Given the description of an element on the screen output the (x, y) to click on. 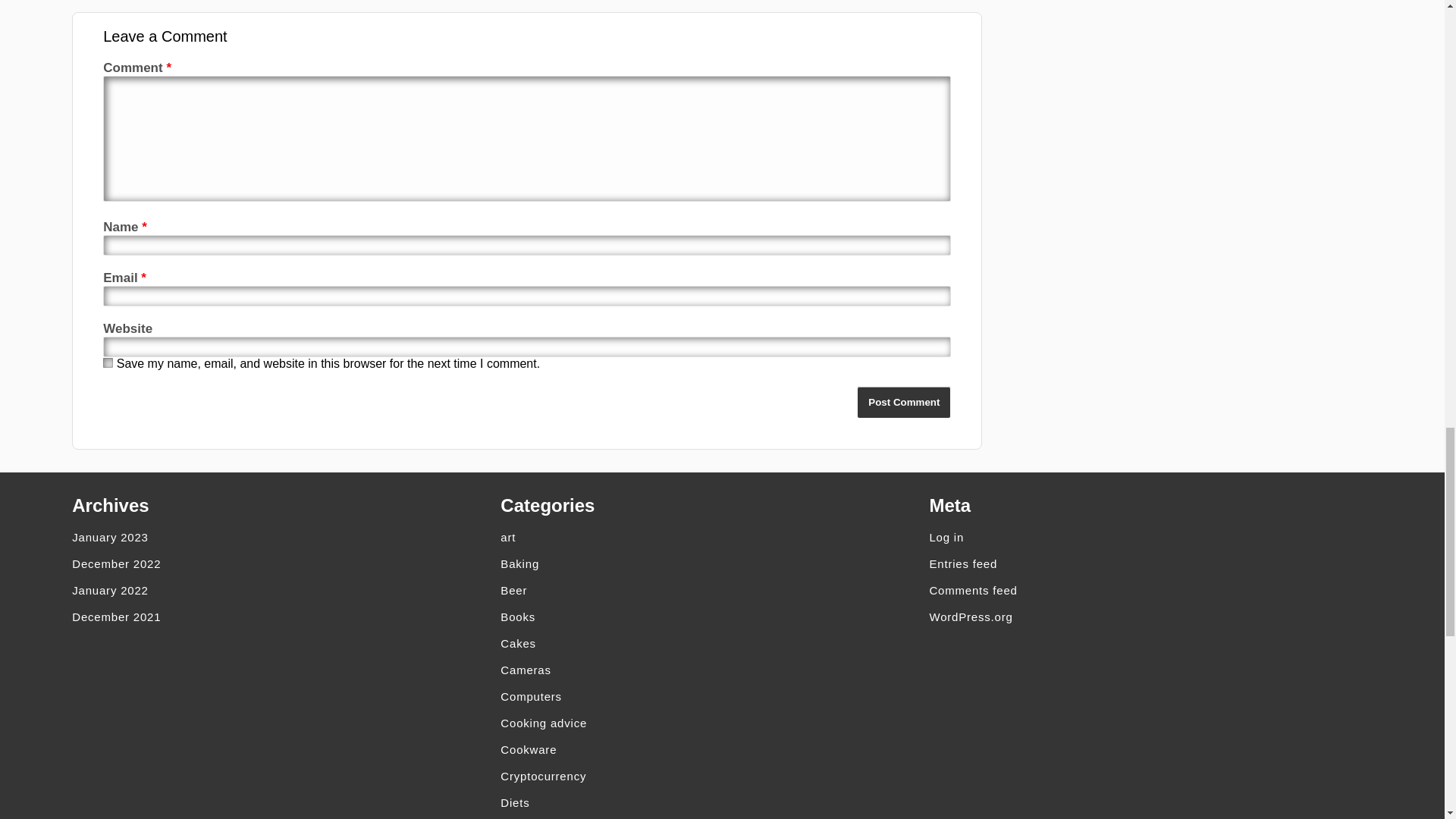
Cookware (714, 749)
Cameras (714, 669)
January 2023 (285, 537)
Cryptocurrency (714, 775)
December 2021 (285, 616)
Post Comment (903, 401)
Computers (714, 696)
Post Comment (903, 401)
Beer (714, 590)
Cooking advice (714, 723)
January 2022 (285, 590)
Books (714, 616)
December 2022 (285, 563)
Cakes (714, 642)
